Given the description of an element on the screen output the (x, y) to click on. 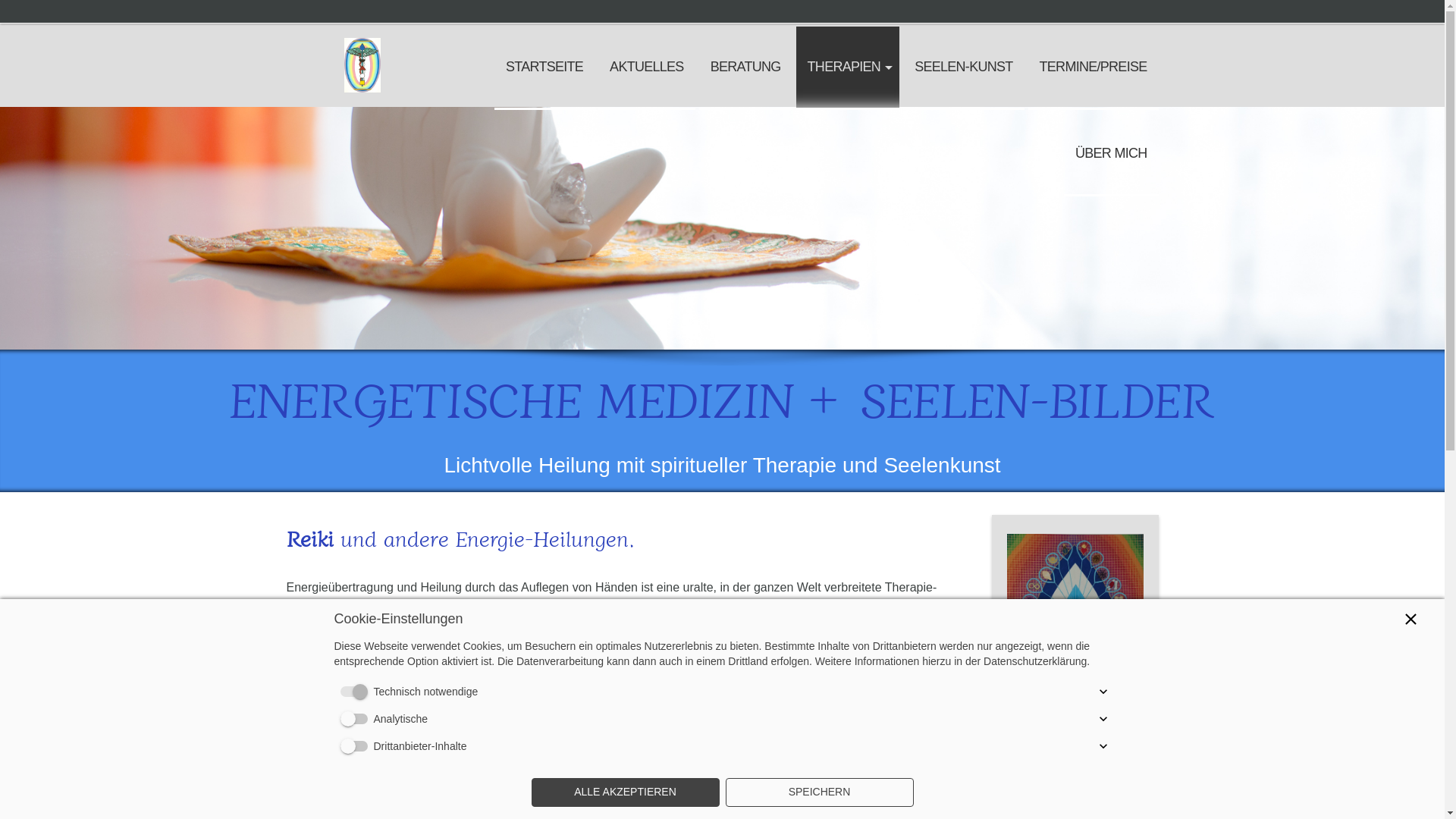
TERMINE/PREISE Element type: text (1093, 67)
BERATUNG Element type: text (745, 67)
SPEICHERN Element type: text (818, 792)
AKTUELLES Element type: text (646, 67)
STARTSEITE Element type: text (544, 67)
  Element type: text (362, 32)
THERAPIEN Element type: text (848, 67)
ALLE AKZEPTIEREN Element type: text (624, 792)
SEELEN-KUNST Element type: text (963, 67)
